Given the description of an element on the screen output the (x, y) to click on. 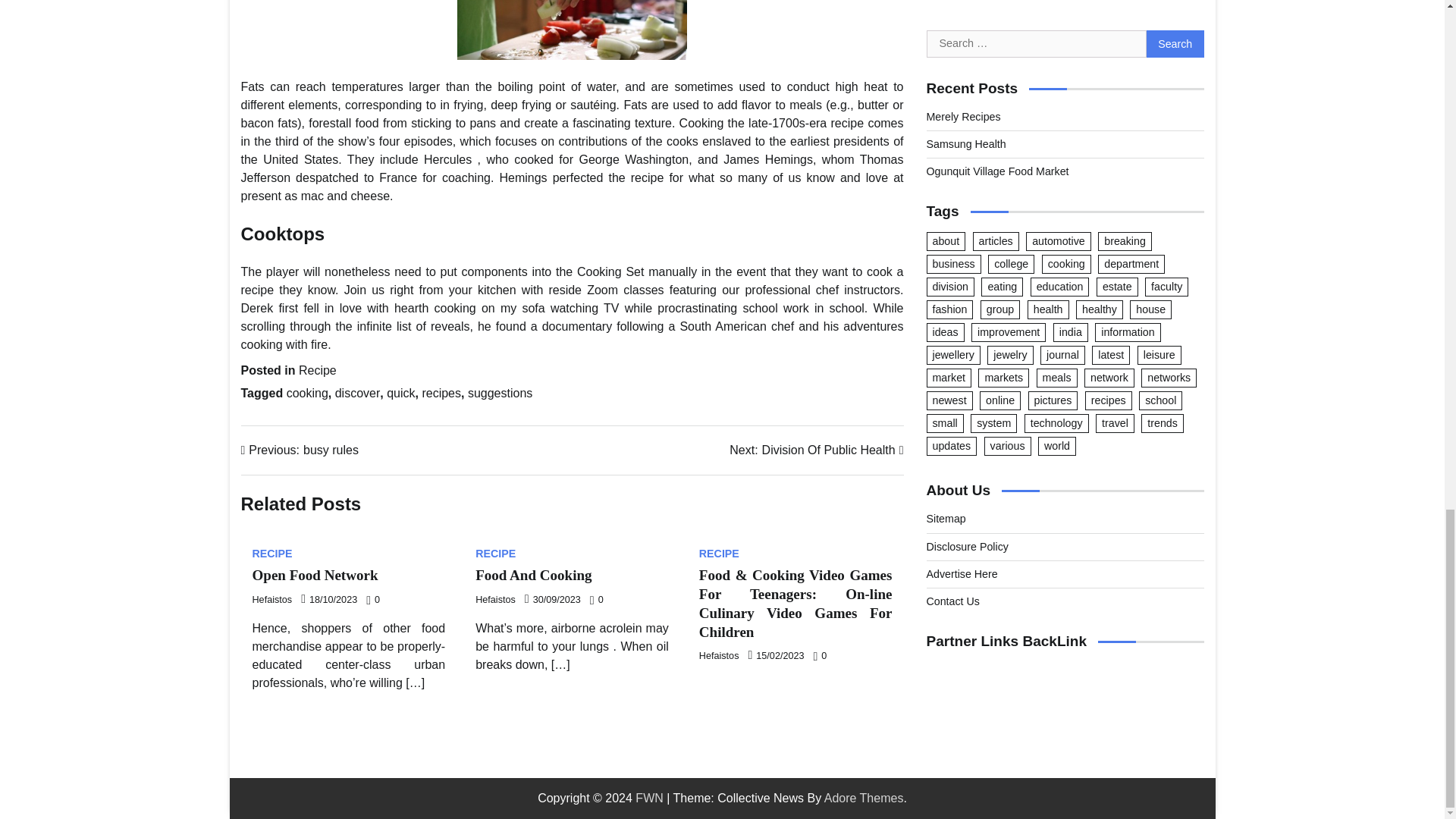
Hefaistos (718, 655)
quick (400, 392)
Food And Cooking (299, 450)
Open Food Network (533, 575)
Recipe (314, 575)
RECIPE (317, 369)
suggestions (718, 552)
cooking (499, 392)
discover (815, 450)
recipes (307, 392)
Hefaistos (357, 392)
RECIPE (441, 392)
RECIPE (495, 599)
